Given the description of an element on the screen output the (x, y) to click on. 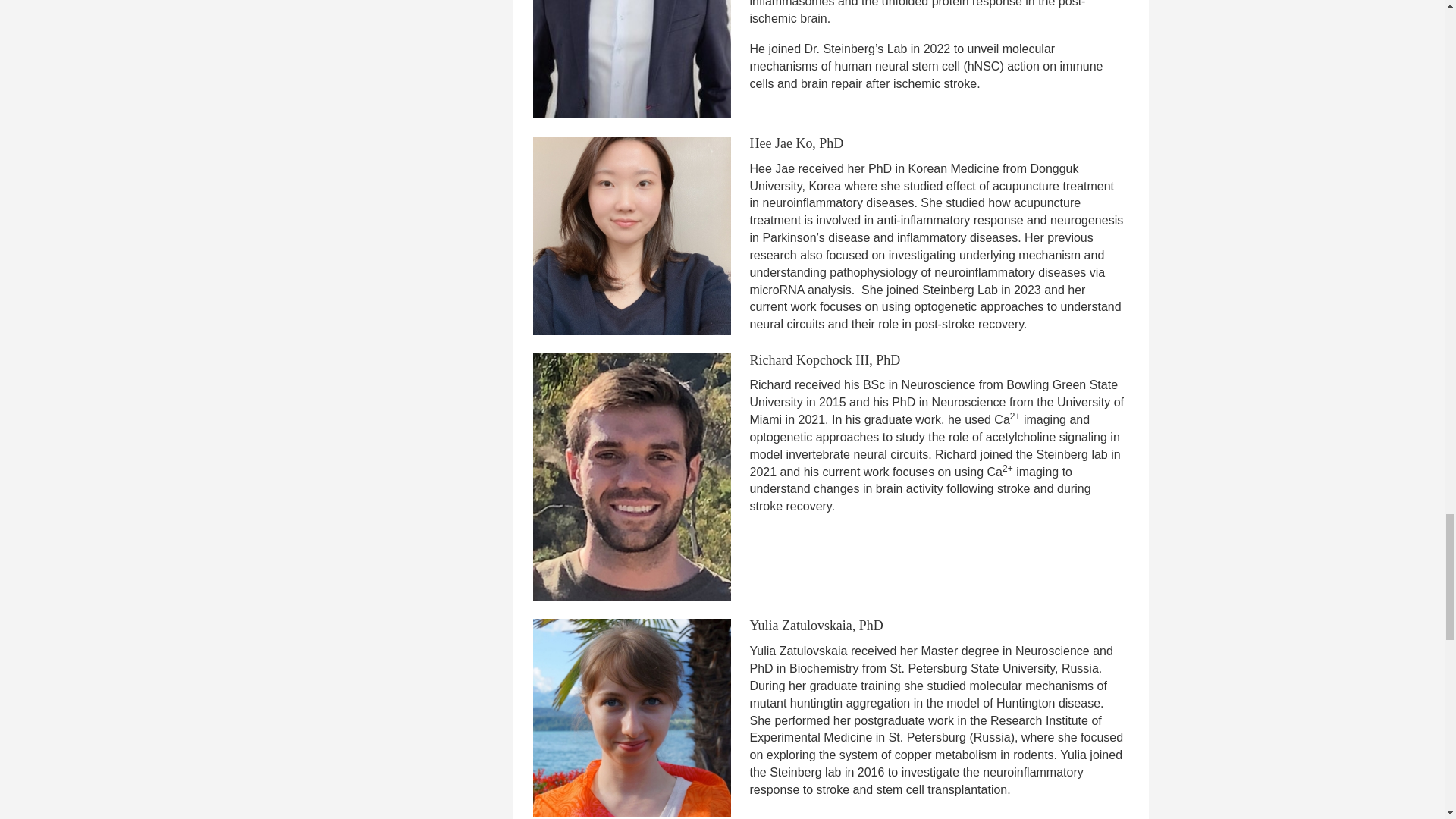
Hee Jae Ko  (632, 235)
Yulia Zatulovskaia  (632, 718)
Pardes Habib  (632, 58)
